Given the description of an element on the screen output the (x, y) to click on. 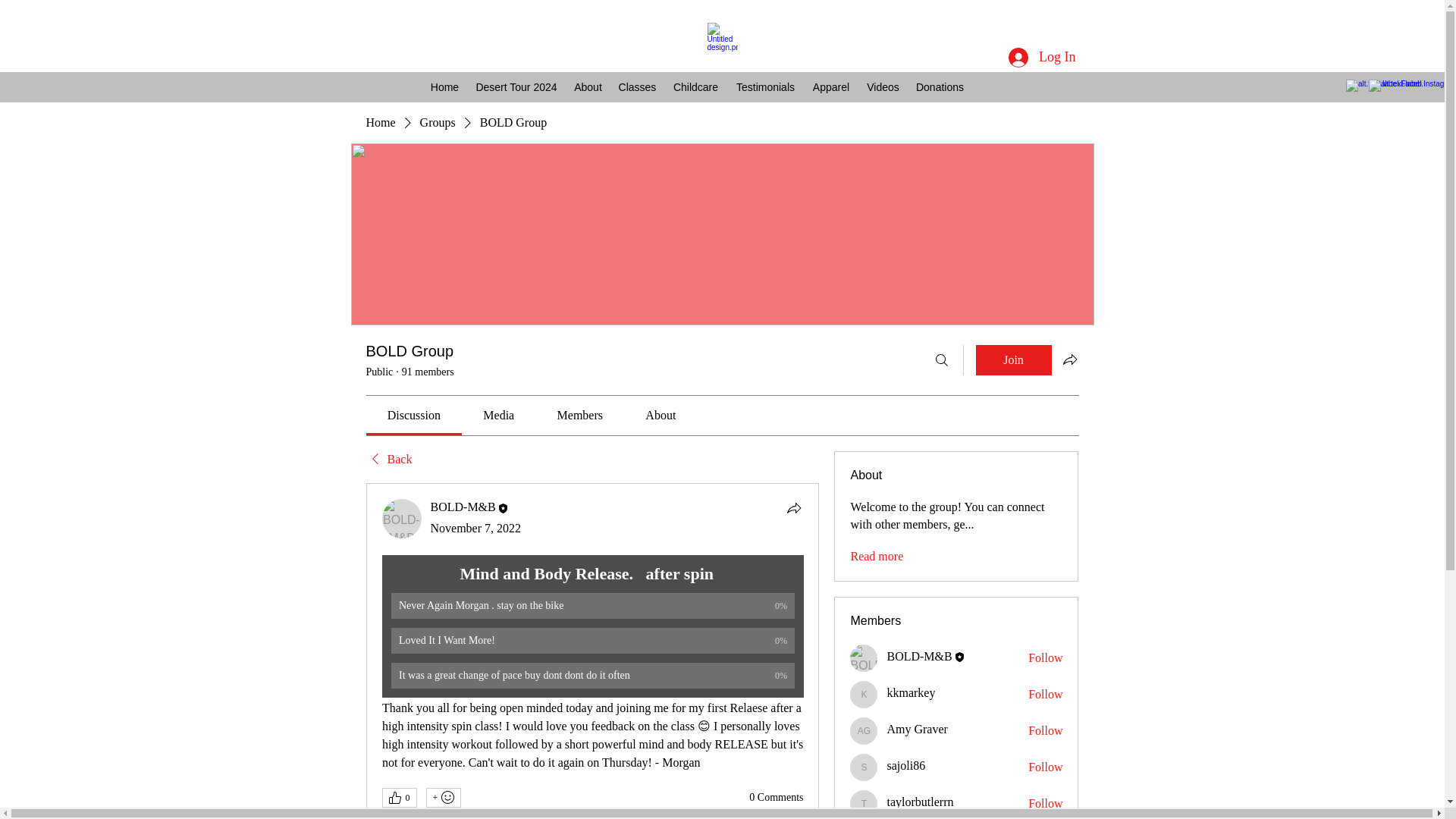
Join (1013, 359)
Donations (939, 87)
Read more (876, 556)
Follow (1044, 730)
taylorbutlerrn (919, 801)
Testimonials (764, 87)
November 7, 2022 (475, 527)
Back (388, 459)
0 Comments (776, 797)
